Given the description of an element on the screen output the (x, y) to click on. 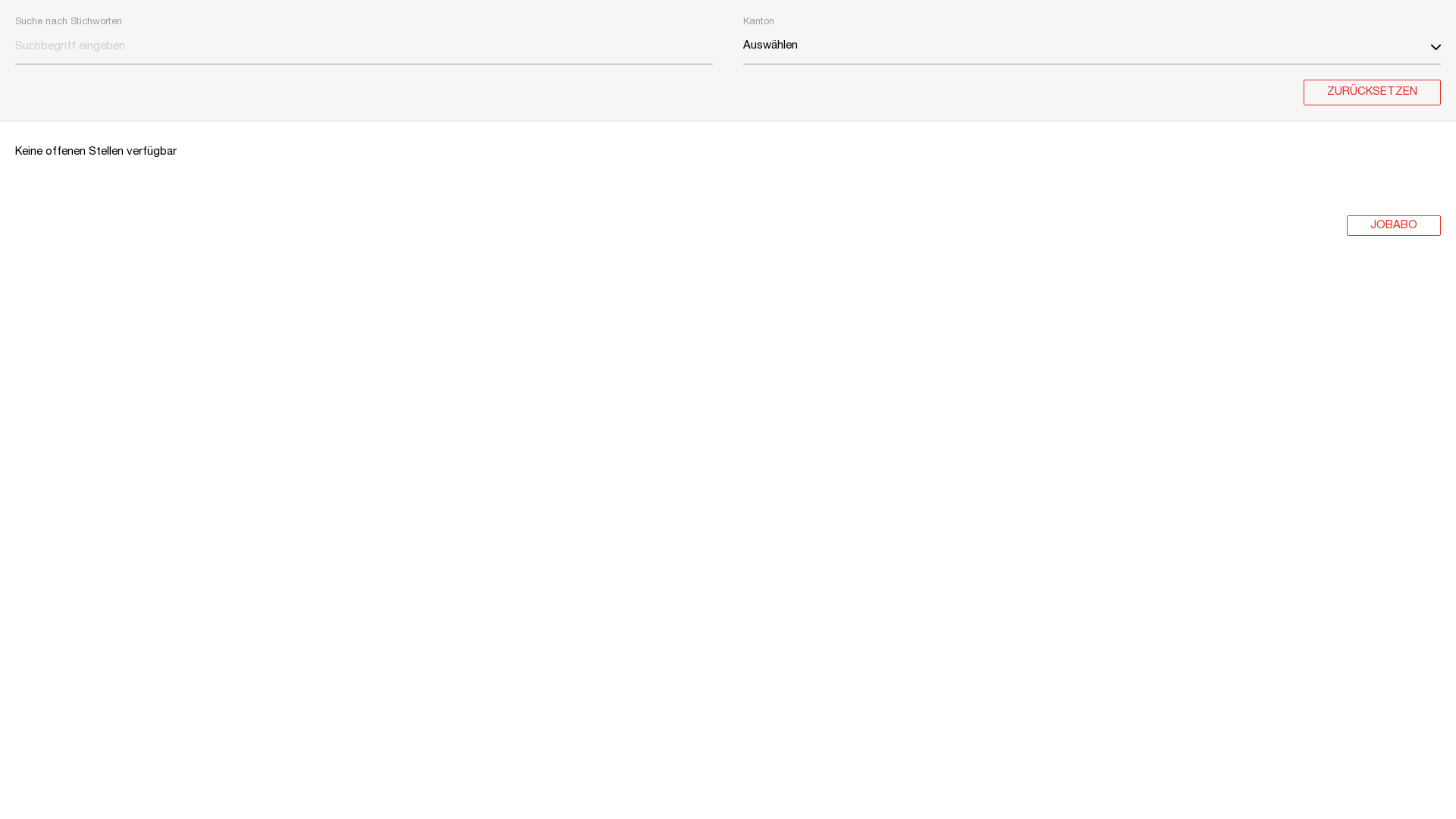
JOBABO Element type: text (1393, 225)
